Given the description of an element on the screen output the (x, y) to click on. 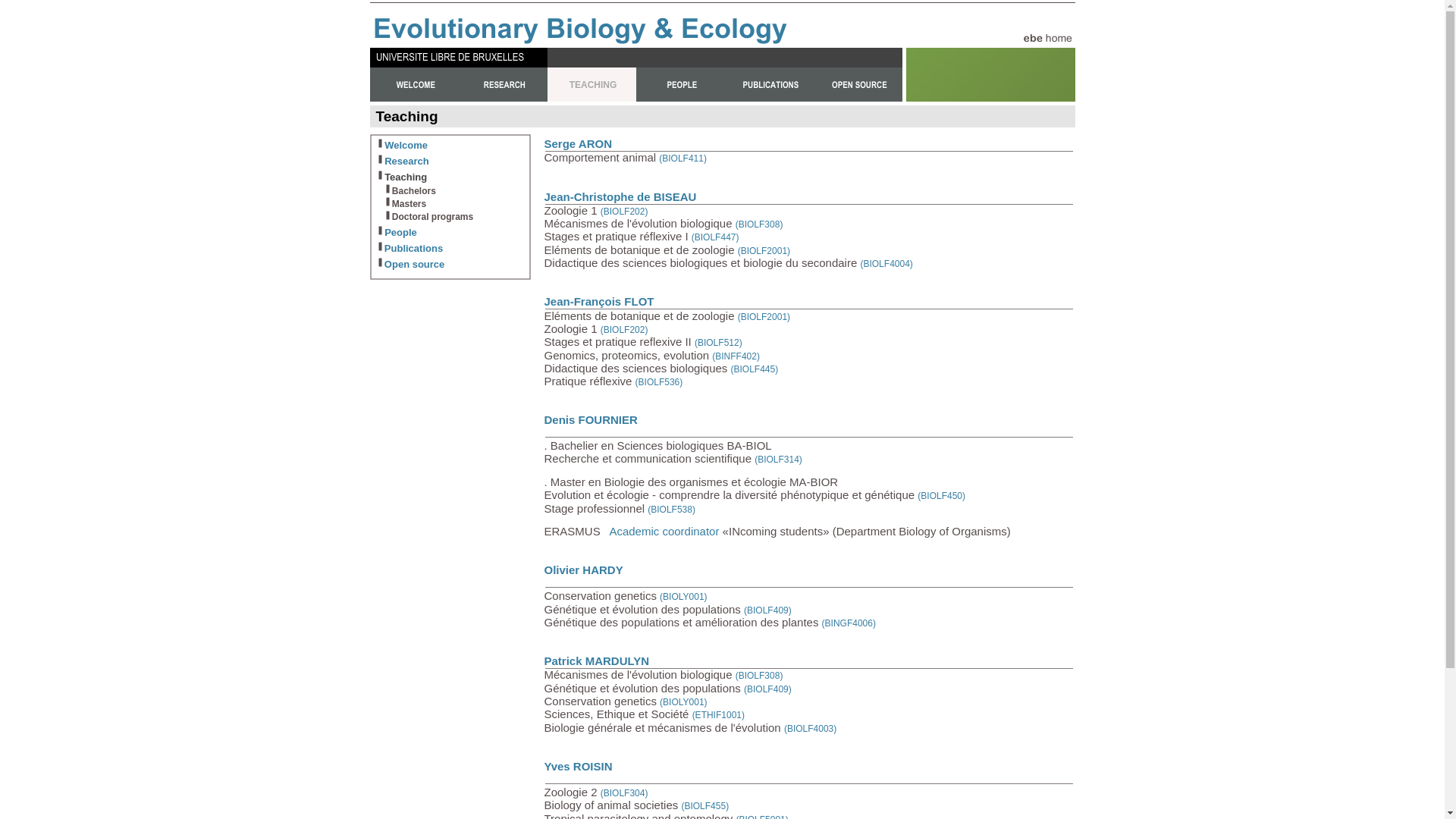
Academic coordinator Element type: text (663, 530)
Open source Element type: text (414, 264)
BIOLF450 Element type: text (941, 494)
Publications Element type: text (413, 248)
People Element type: text (400, 232)
BIOLF538 Element type: text (671, 508)
Welcome Element type: text (405, 144)
Research Element type: text (406, 160)
BIOLF314 Element type: text (778, 457)
